Given the description of an element on the screen output the (x, y) to click on. 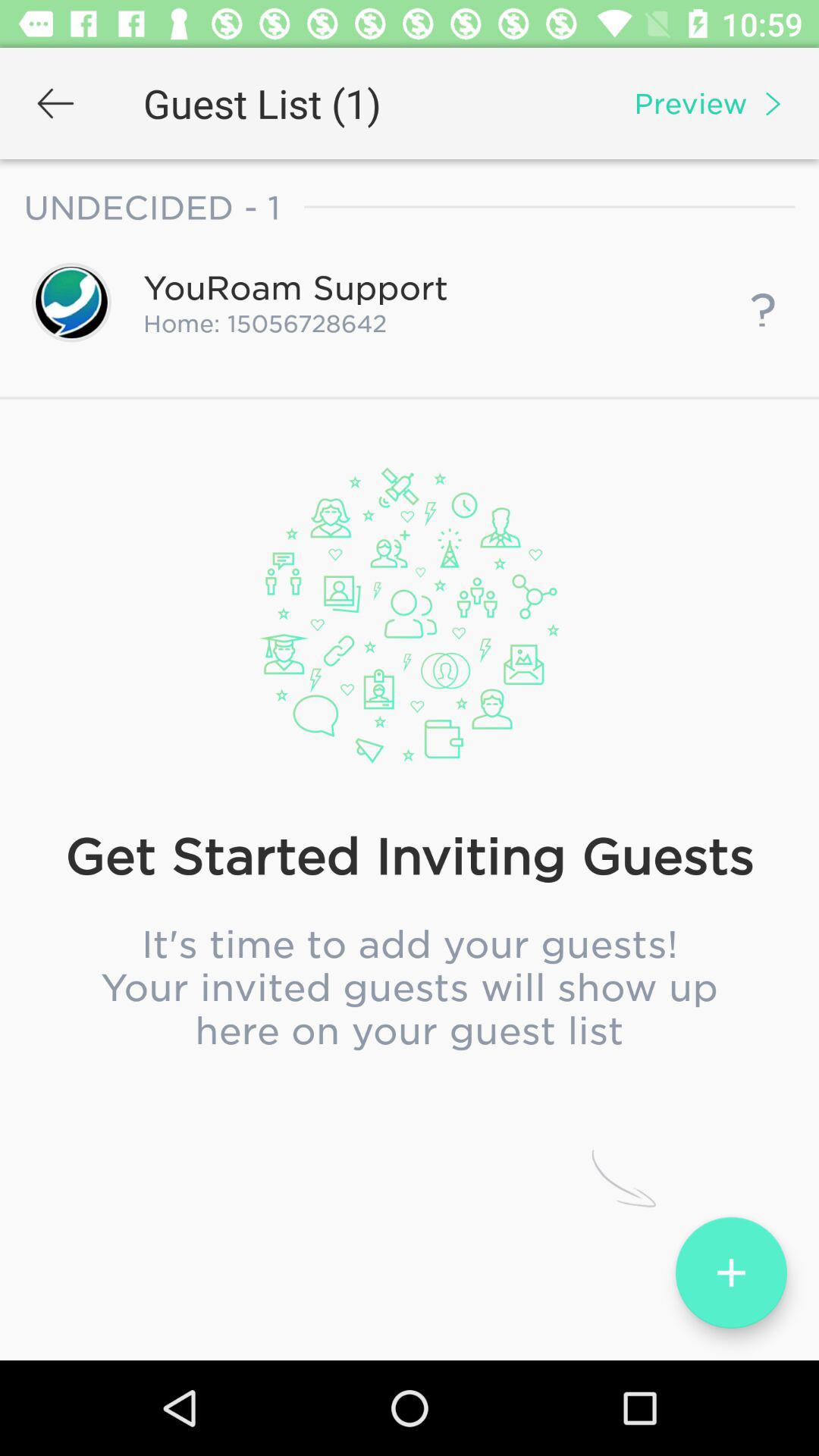
choose icon below the sat apr 15 (409, 709)
